Given the description of an element on the screen output the (x, y) to click on. 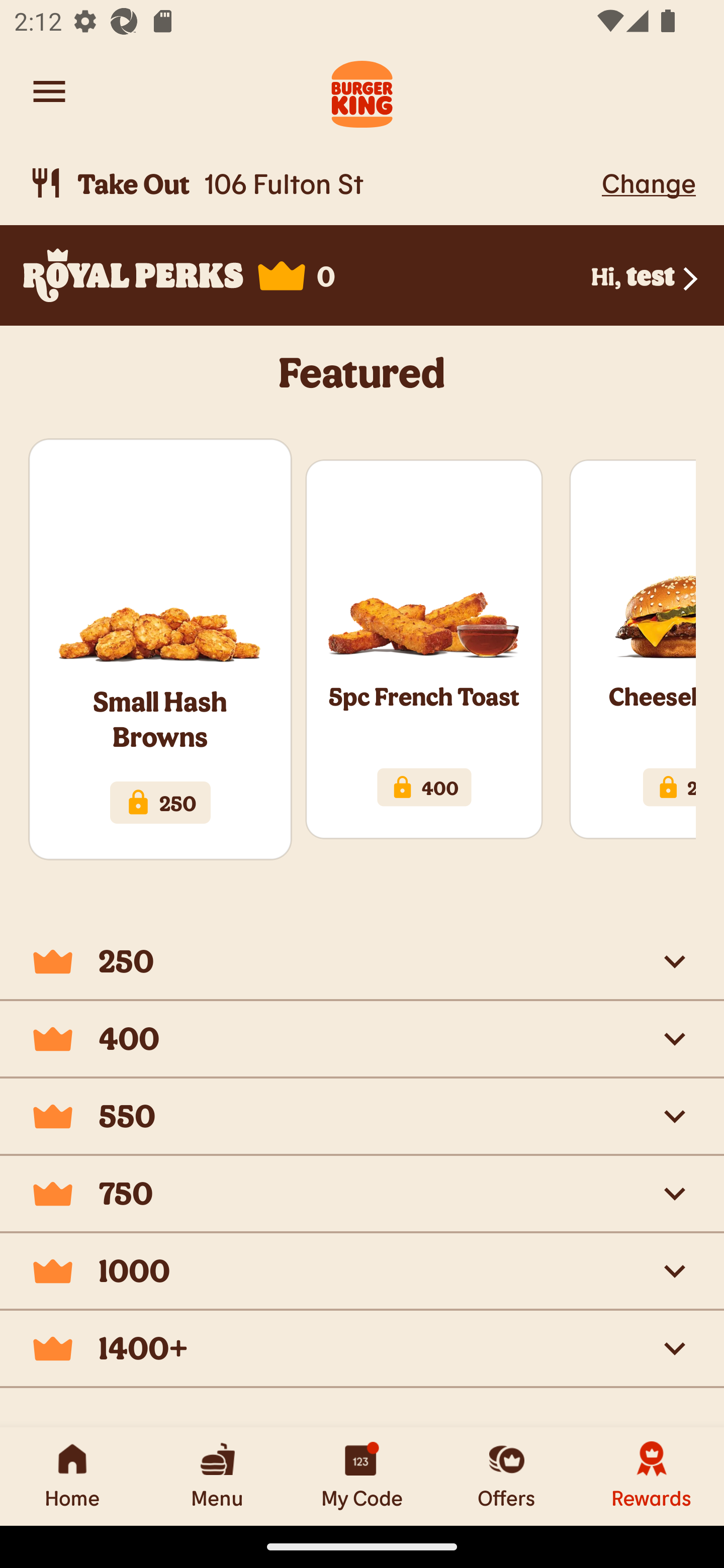
Burger King Logo. Navigate to Home (362, 91)
Navigate to account menu  (49, 91)
Take Out, 106 Fulton St  Take Out 106 Fulton St (311, 183)
Change (648, 182)
Home (72, 1475)
Menu (216, 1475)
My Code (361, 1475)
Offers (506, 1475)
Rewards (651, 1475)
